Given the description of an element on the screen output the (x, y) to click on. 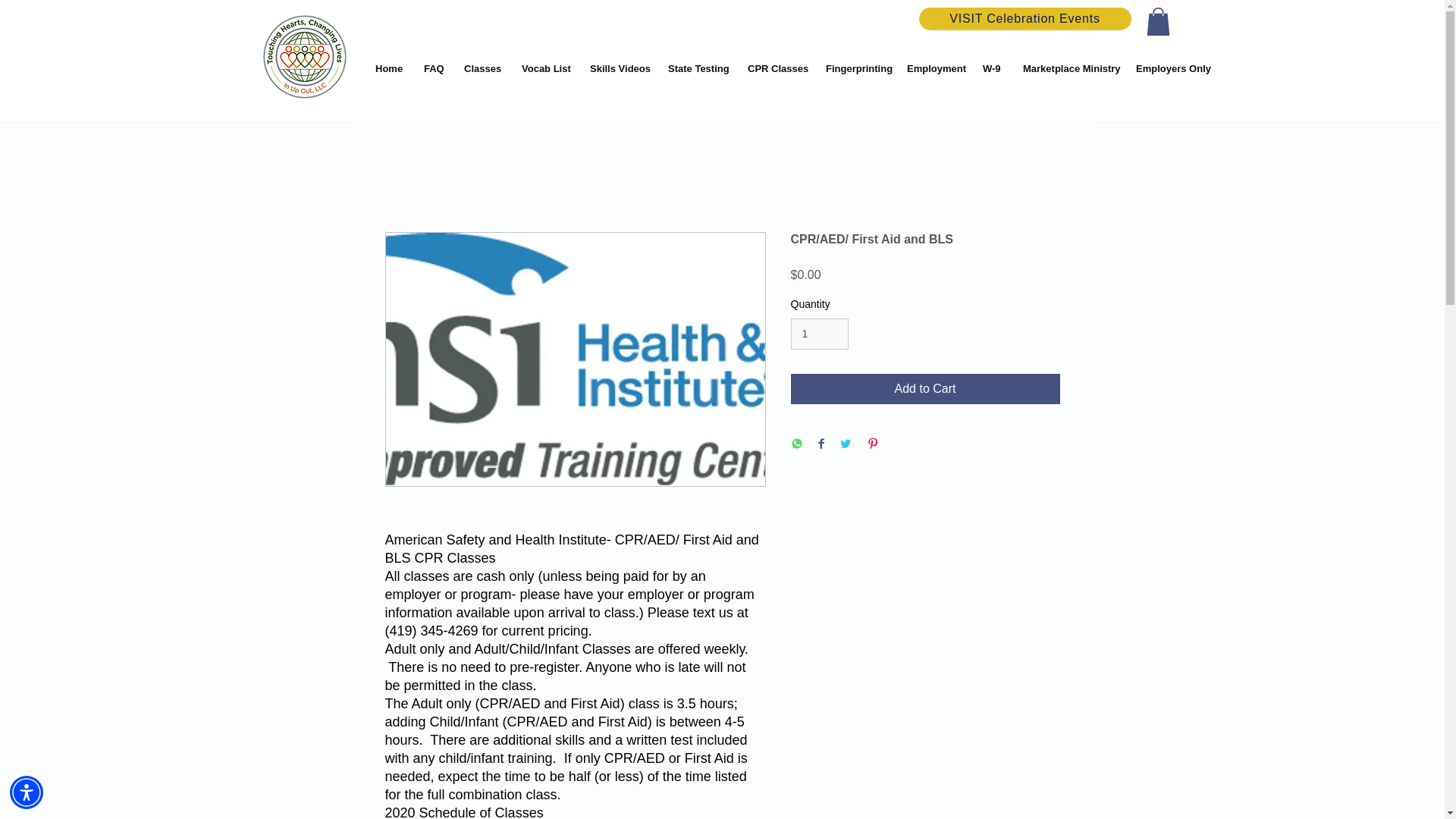
Fingerprinting (854, 68)
Employment (933, 68)
FAQ (432, 68)
Skills Videos (617, 68)
State Testing (696, 68)
Add to Cart (924, 388)
Accessibility Menu (26, 792)
1 (818, 333)
VISIT Celebration Events (1024, 18)
Home (388, 68)
Marketplace Ministry (1067, 68)
Vocab List (544, 68)
CPR Classes (774, 68)
Employers Only (1168, 68)
